Given the description of an element on the screen output the (x, y) to click on. 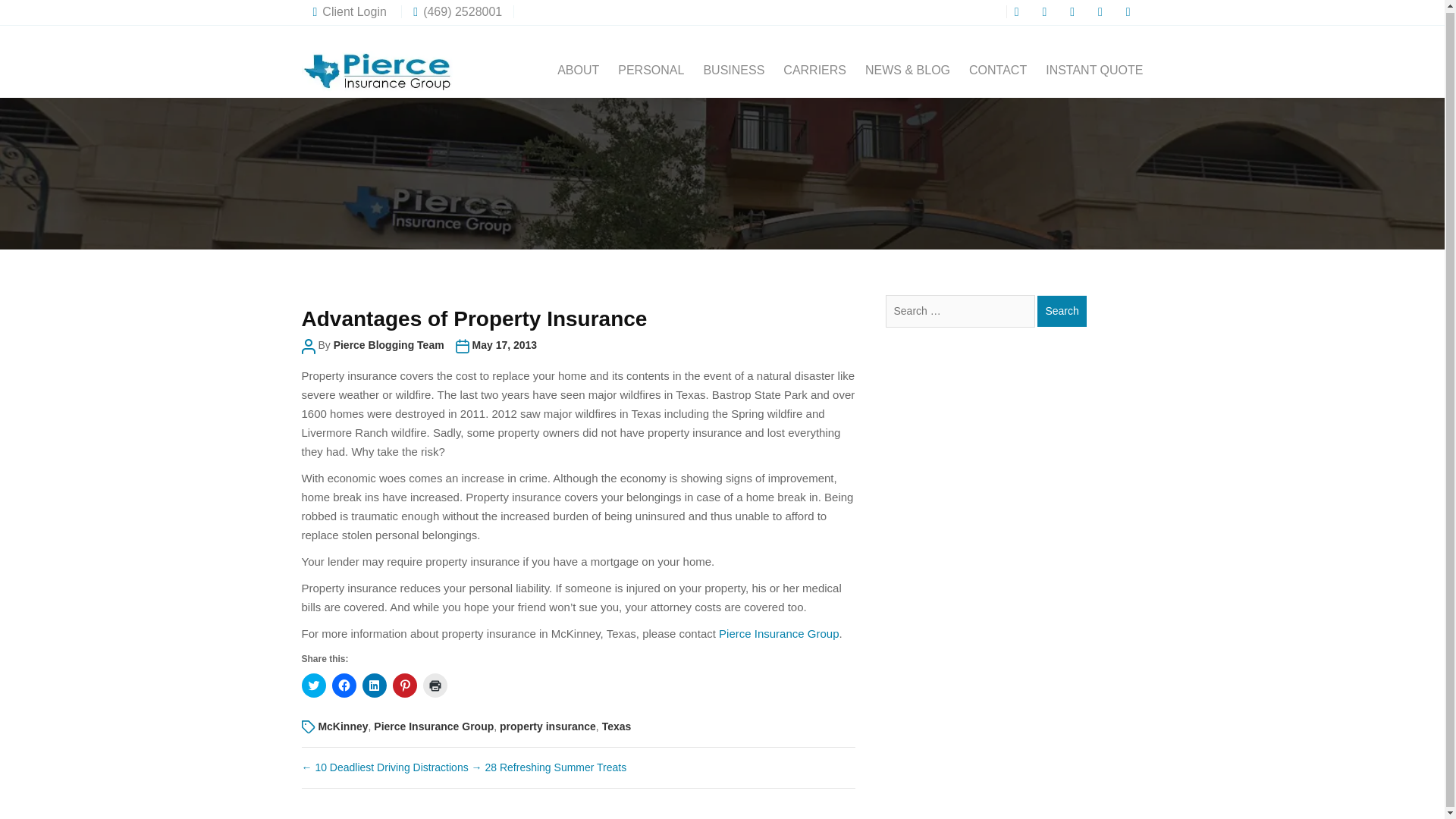
Facebook (1019, 11)
Click to print (434, 685)
Feed (1130, 11)
Click to share on Twitter (313, 685)
INSTANT QUOTE (1093, 70)
Pierce Insurance Group (778, 633)
May 17, 2013 (504, 345)
McKinney (342, 726)
Click to share on Pinterest (404, 685)
